Given the description of an element on the screen output the (x, y) to click on. 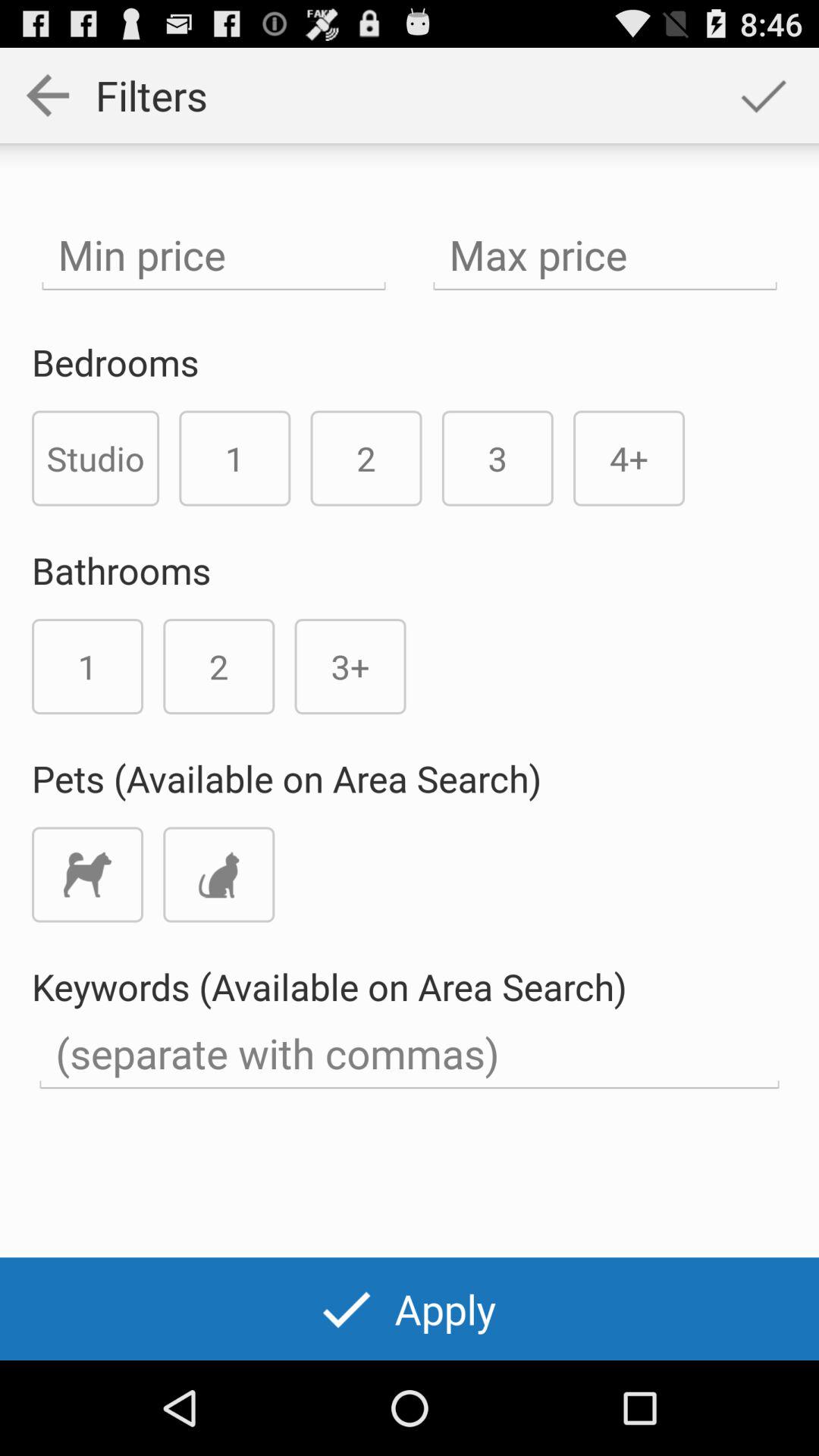
click the item to the left of the 1 icon (95, 458)
